Given the description of an element on the screen output the (x, y) to click on. 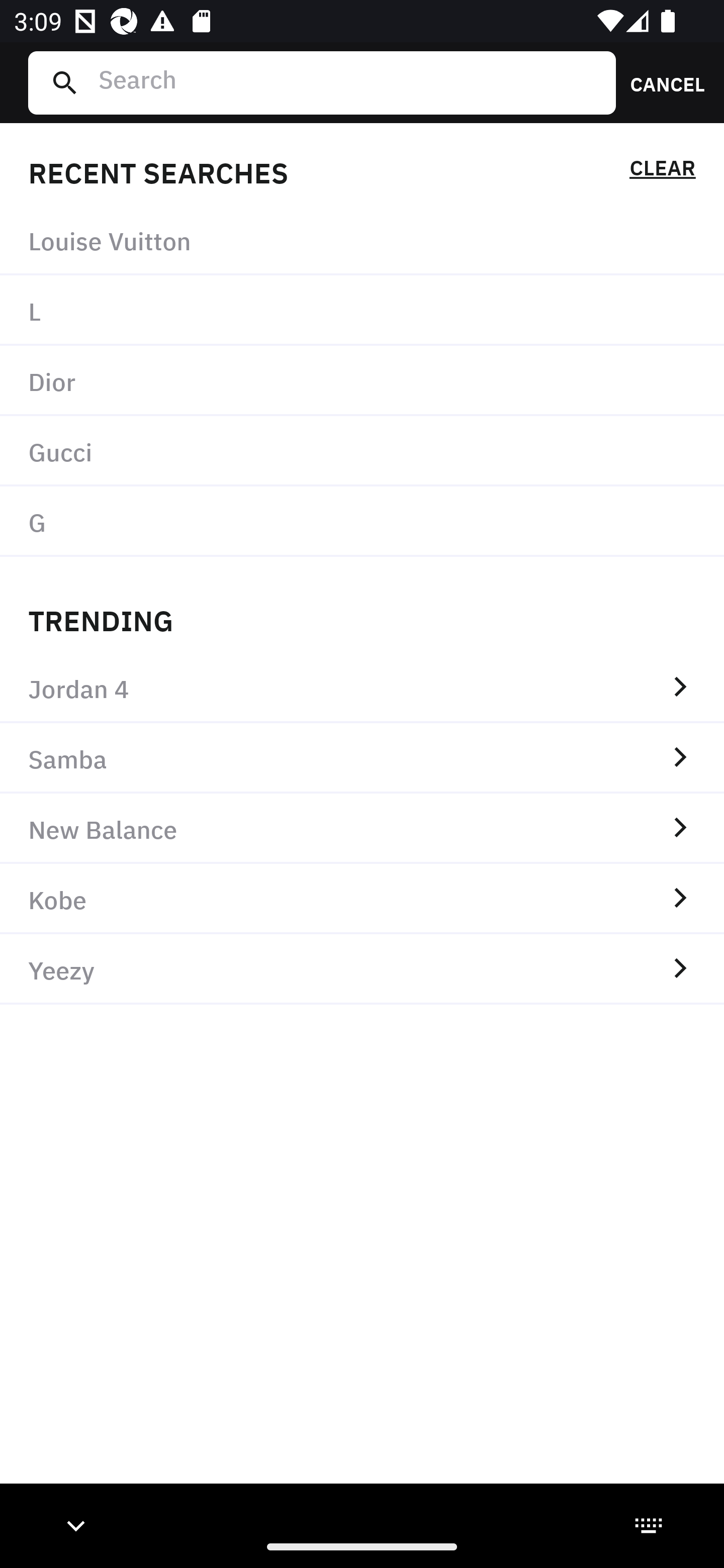
CANCEL (660, 82)
Search (349, 82)
CLEAR (662, 170)
Louise Vuitton (362, 240)
L (362, 310)
Dior (362, 380)
Gucci (362, 450)
G (362, 521)
Jordan 4  (362, 687)
Samba  (362, 757)
New Balance  (362, 828)
Kobe  (362, 898)
Yeezy  (362, 969)
